Given the description of an element on the screen output the (x, y) to click on. 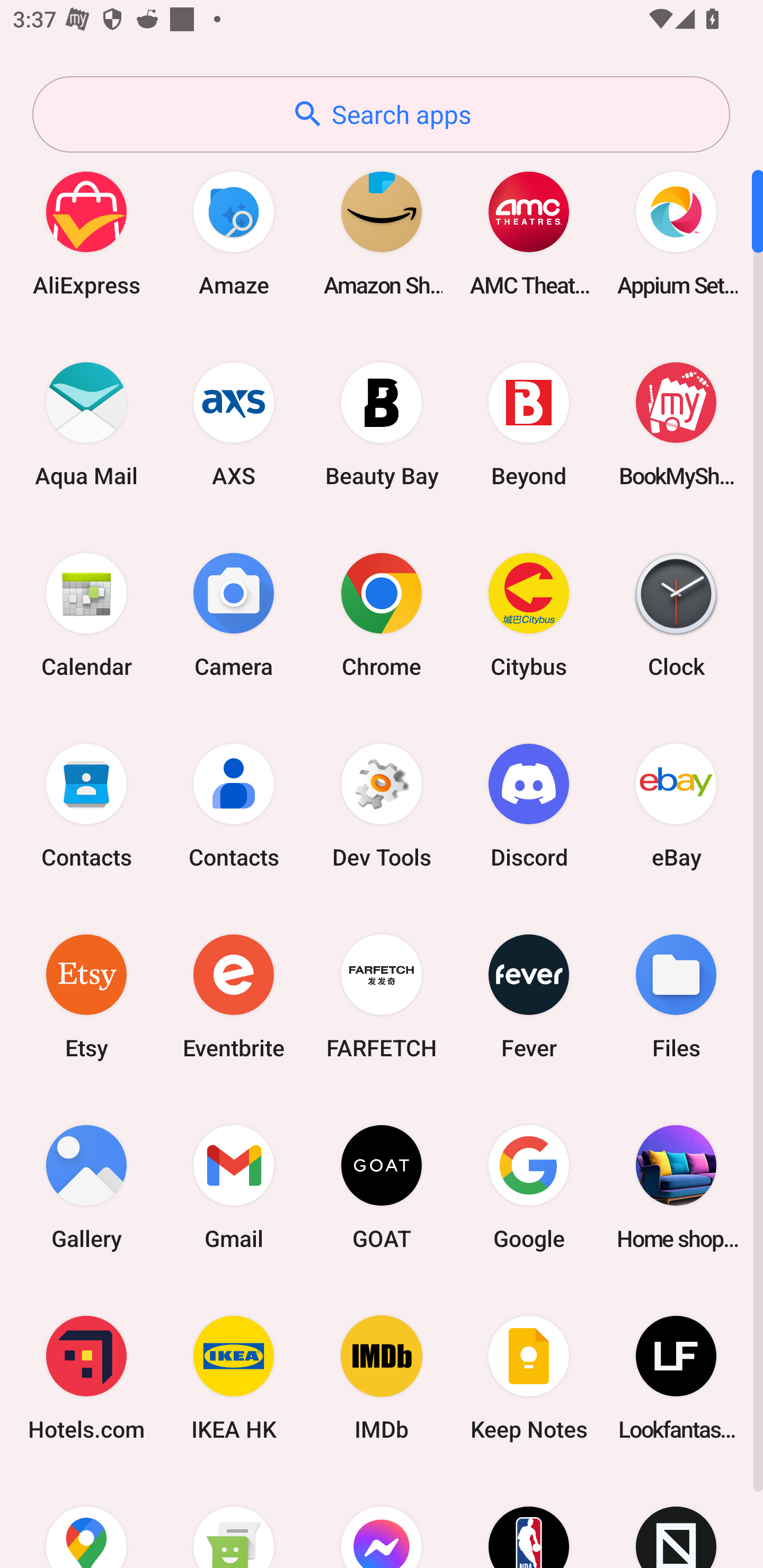
  Search apps (381, 114)
AliExpress (86, 233)
Amaze (233, 233)
Amazon Shopping (381, 233)
AMC Theatres (528, 233)
Appium Settings (676, 233)
Aqua Mail (86, 424)
AXS (233, 424)
Beauty Bay (381, 424)
Beyond (528, 424)
BookMyShow (676, 424)
Calendar (86, 614)
Camera (233, 614)
Chrome (381, 614)
Citybus (528, 614)
Clock (676, 614)
Contacts (86, 805)
Contacts (233, 805)
Dev Tools (381, 805)
Discord (528, 805)
eBay (676, 805)
Etsy (86, 996)
Eventbrite (233, 996)
FARFETCH (381, 996)
Fever (528, 996)
Files (676, 996)
Gallery (86, 1186)
Gmail (233, 1186)
GOAT (381, 1186)
Google (528, 1186)
Home shopping (676, 1186)
Hotels.com (86, 1377)
IKEA HK (233, 1377)
IMDb (381, 1377)
Keep Notes (528, 1377)
Lookfantastic (676, 1377)
Maps (86, 1520)
Messaging (233, 1520)
Messenger (381, 1520)
NBA (528, 1520)
Novelship (676, 1520)
